Given the description of an element on the screen output the (x, y) to click on. 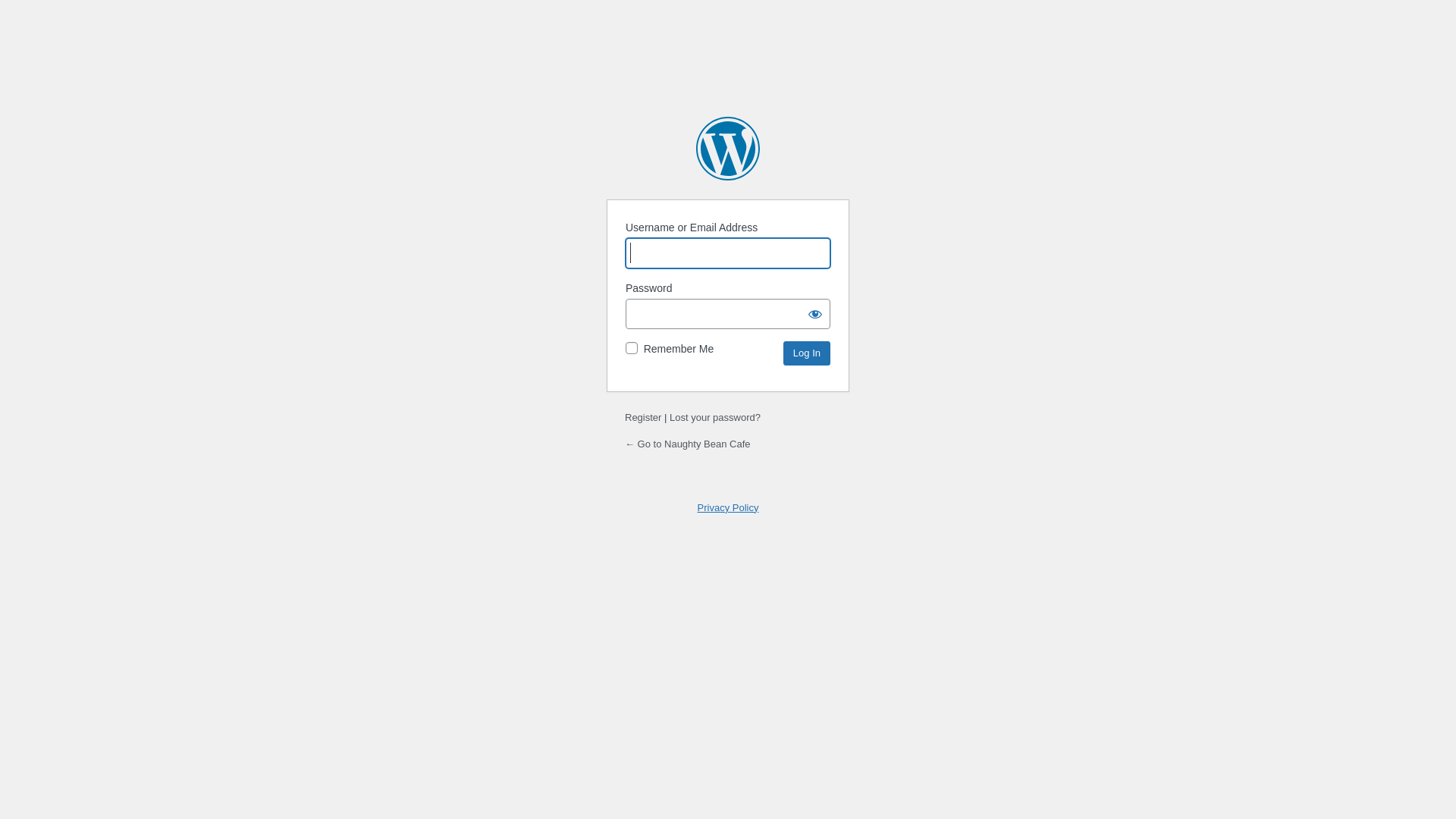
Register Element type: text (642, 417)
Powered by WordPress Element type: text (727, 148)
Lost your password? Element type: text (714, 417)
Privacy Policy Element type: text (728, 507)
Log In Element type: text (806, 353)
